Given the description of an element on the screen output the (x, y) to click on. 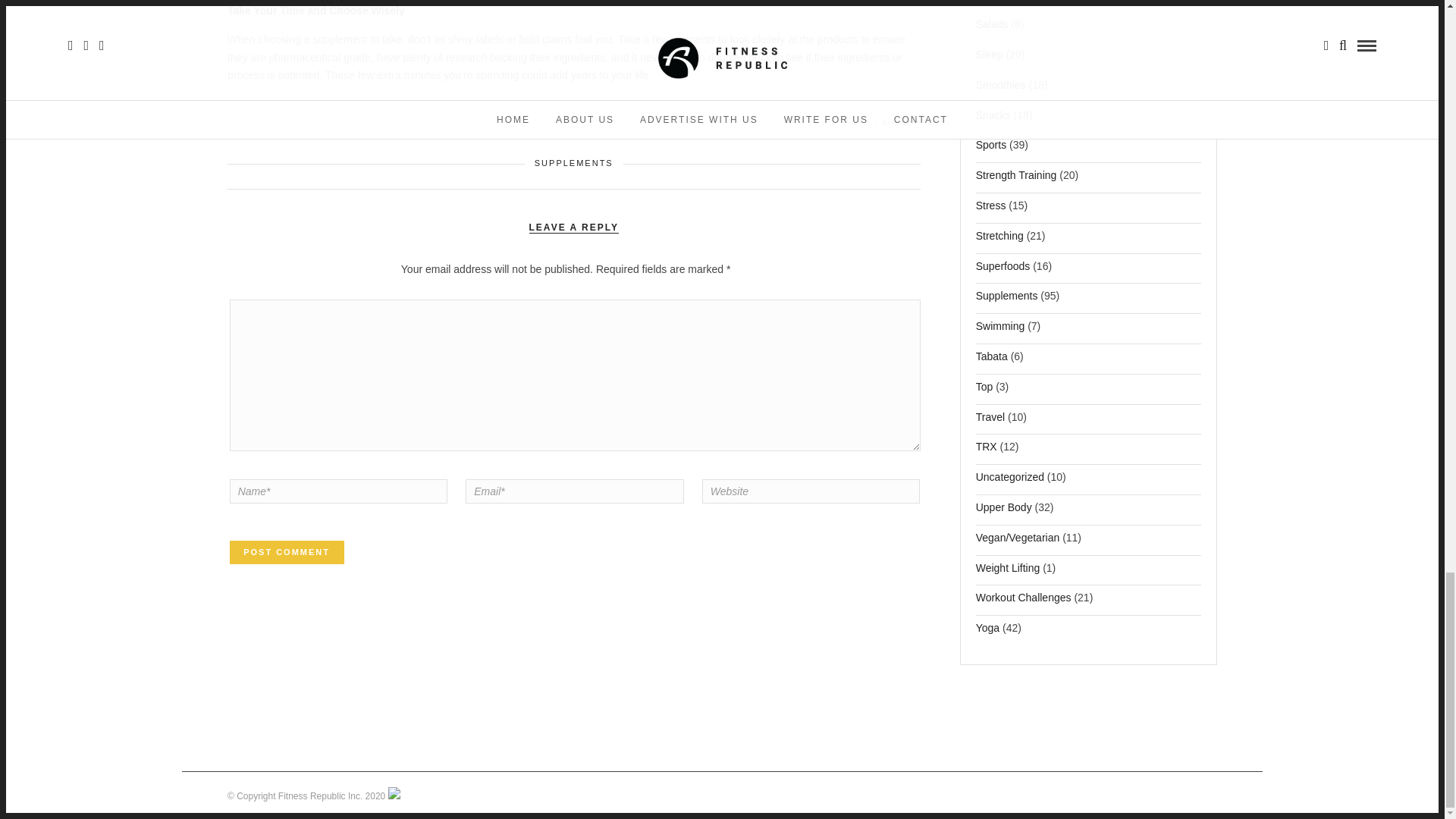
Post Comment (286, 552)
Post Comment (286, 552)
SUPPLEMENTS (573, 162)
